Given the description of an element on the screen output the (x, y) to click on. 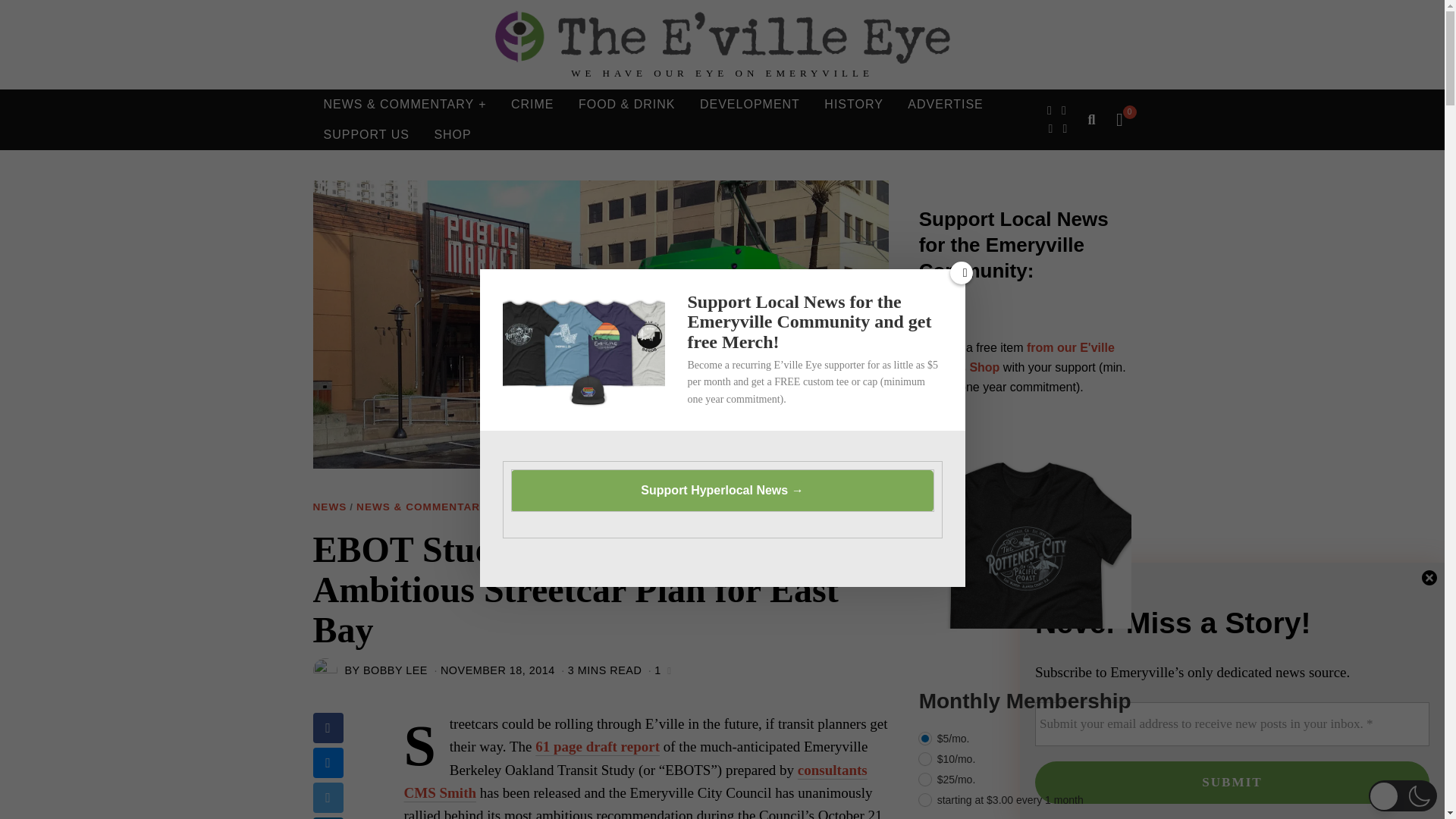
HISTORY (853, 104)
YouTube (1064, 128)
BOBBY LEE (395, 670)
consultants CMS Smith (634, 780)
Facebook (1049, 110)
61 page draft report (597, 746)
Submit (1232, 782)
ADVERTISE (944, 104)
Twitter (1064, 110)
SUPPORT US (366, 134)
DEVELOPMENT (749, 104)
0 (1118, 119)
make-a-recurring-monthly-payment-1515814258 (924, 779)
SHOP (452, 134)
